Given the description of an element on the screen output the (x, y) to click on. 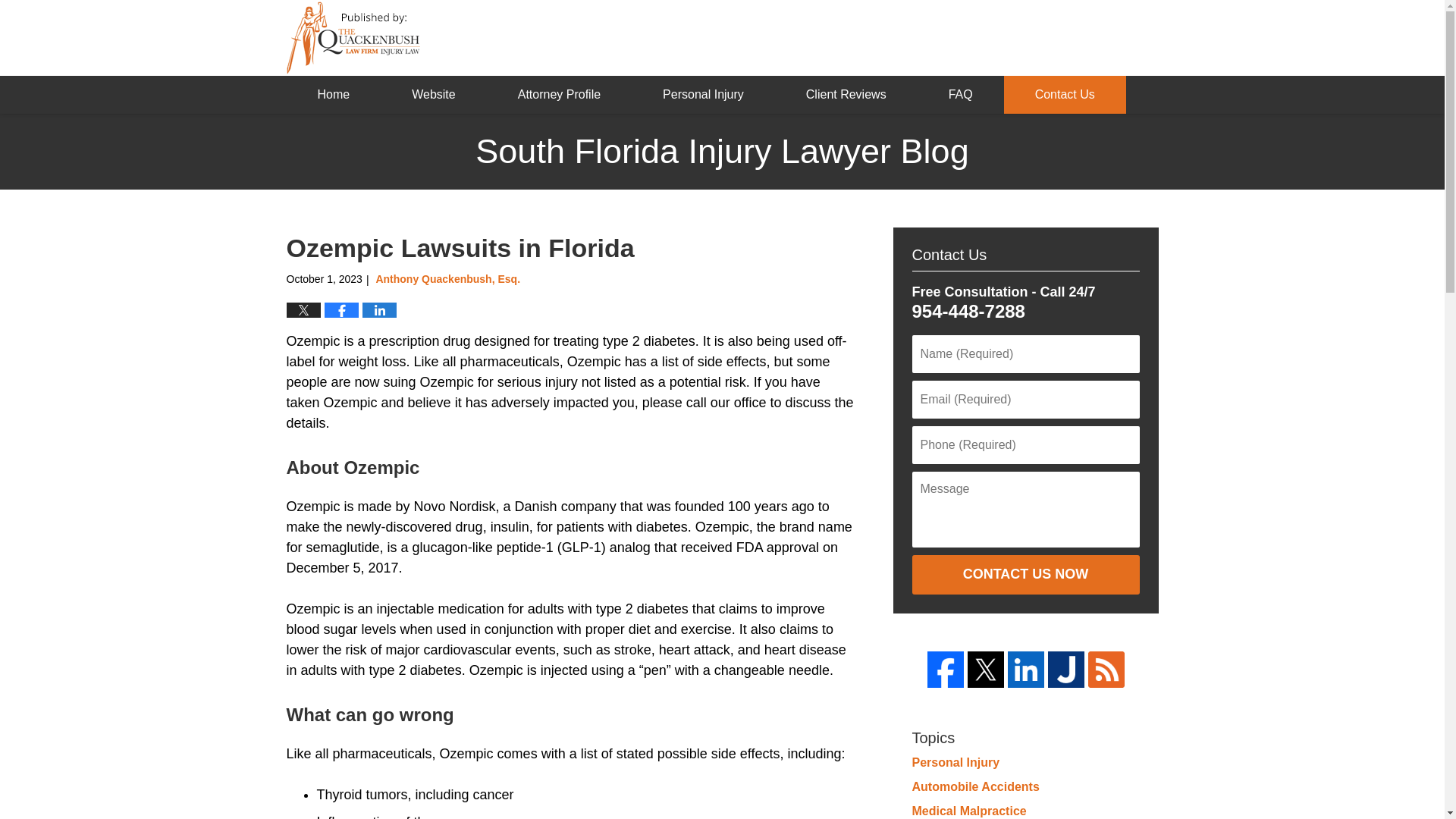
Published By Anthony Quackenbush, Esq. (1052, 37)
Client Reviews (845, 94)
Contact Us (1064, 94)
Automobile Accidents (975, 786)
Personal Injury (702, 94)
Twitter (986, 669)
South Florida Injury Lawyer Blog (353, 37)
Attorney Profile (558, 94)
Please enter a valid phone number. (1024, 444)
Feed (1105, 669)
Facebook (944, 669)
Personal Injury (954, 762)
Home (333, 94)
Medical Malpractice (968, 810)
Justia (1066, 669)
